Given the description of an element on the screen output the (x, y) to click on. 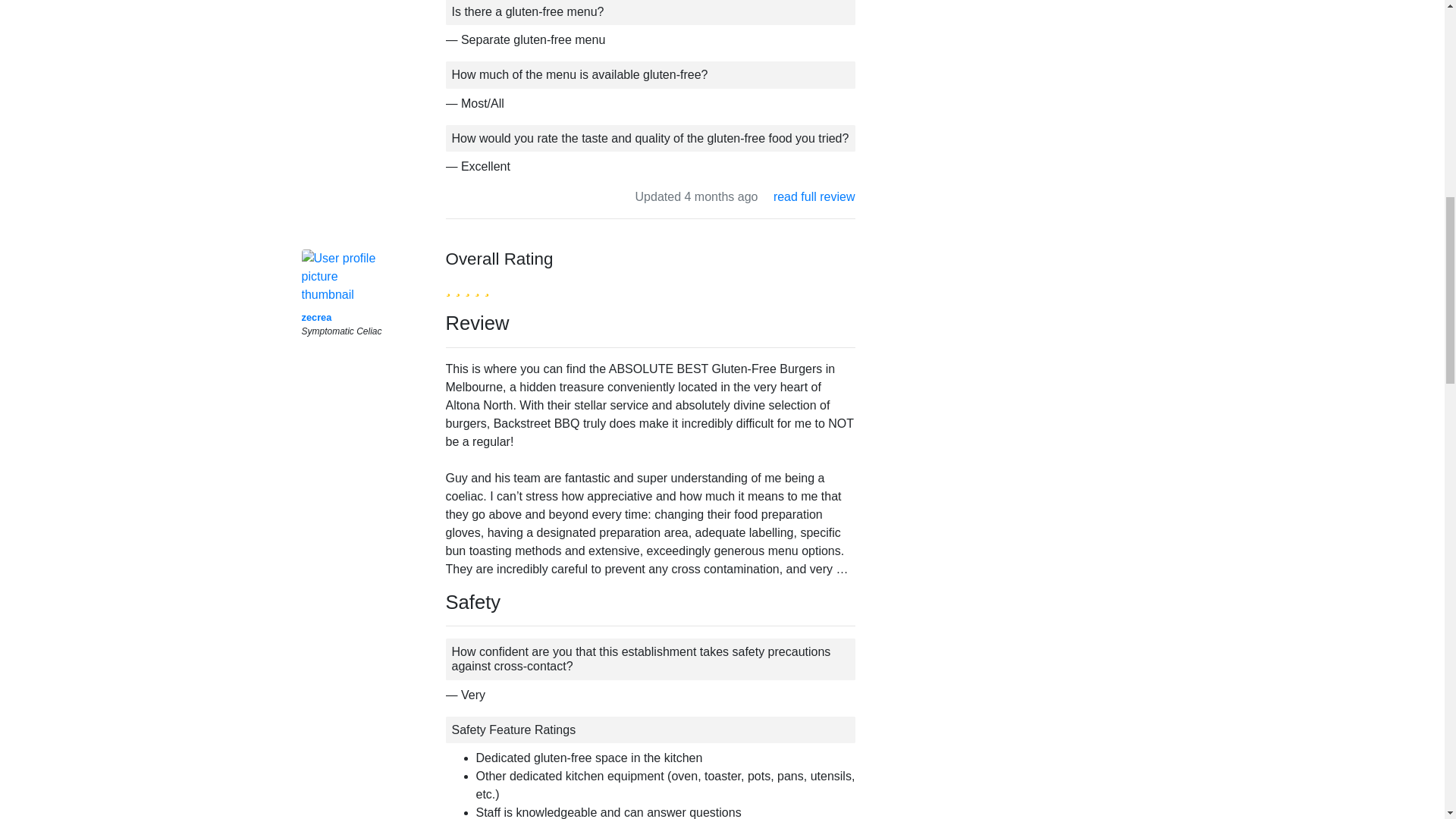
5 star rating (467, 287)
read full review (814, 196)
zecrea (316, 317)
